Given the description of an element on the screen output the (x, y) to click on. 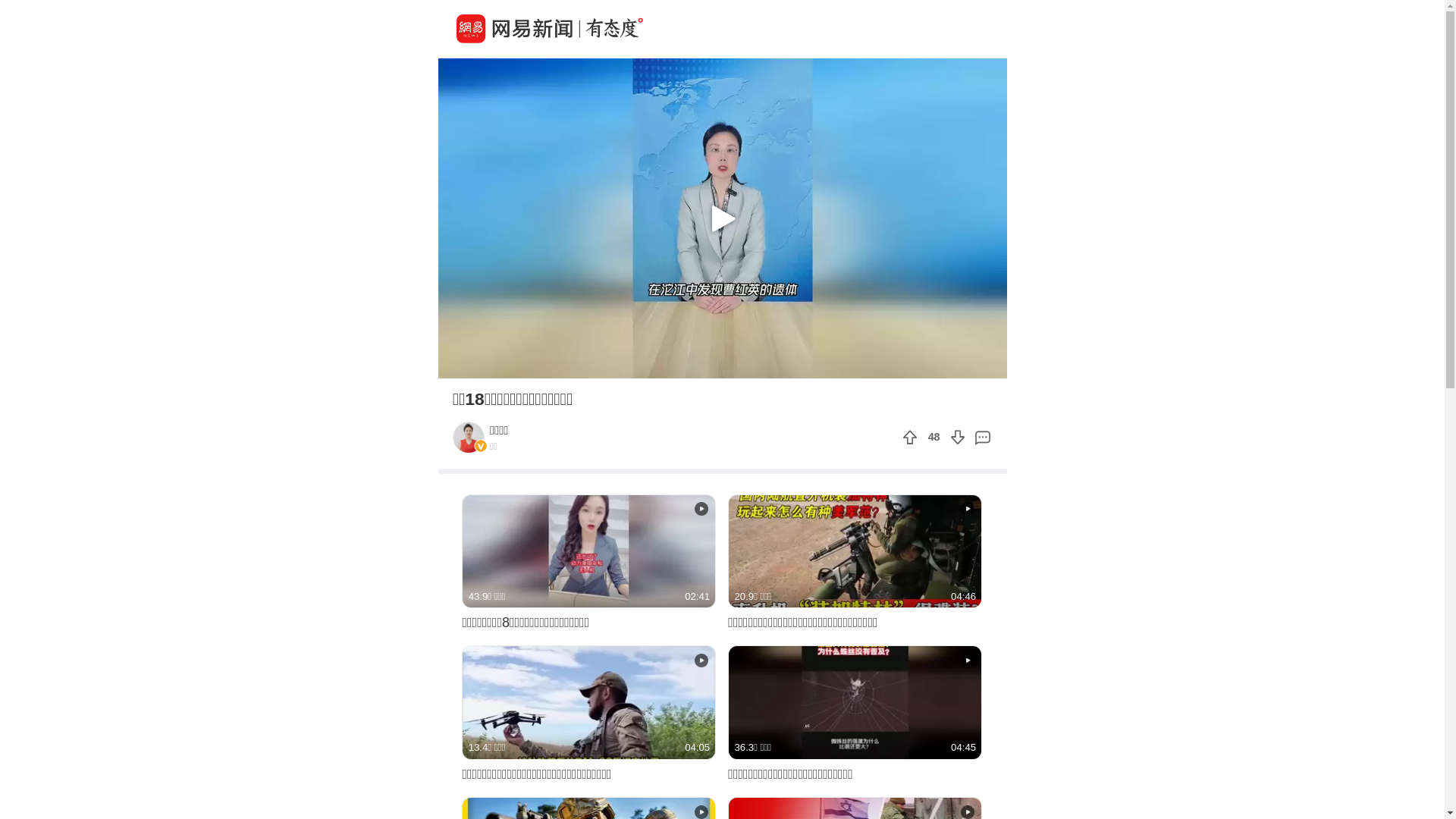
Enter fullscreen Element type: text (989, 365)
